Given the description of an element on the screen output the (x, y) to click on. 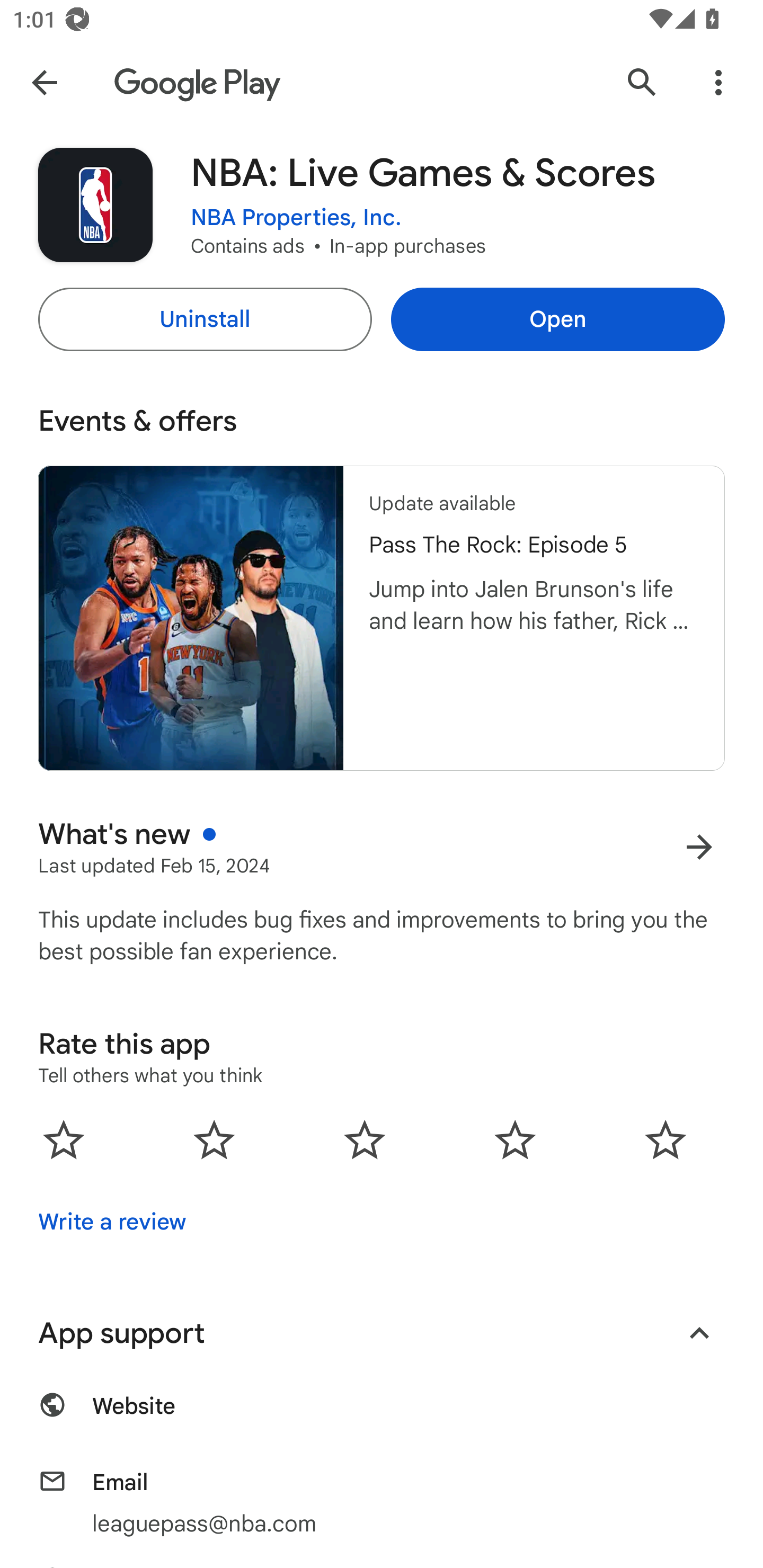
Navigate up (44, 81)
Search Google Play (642, 81)
More Options (718, 81)
NBA Properties, Inc. (295, 217)
Uninstall (205, 318)
Open (557, 318)
More results for What's new (699, 847)
0.0 (364, 1138)
Write a review (112, 1221)
App support Collapse (381, 1333)
Collapse (699, 1333)
Website (381, 1415)
Email leaguepass@nba.com (381, 1502)
